Given the description of an element on the screen output the (x, y) to click on. 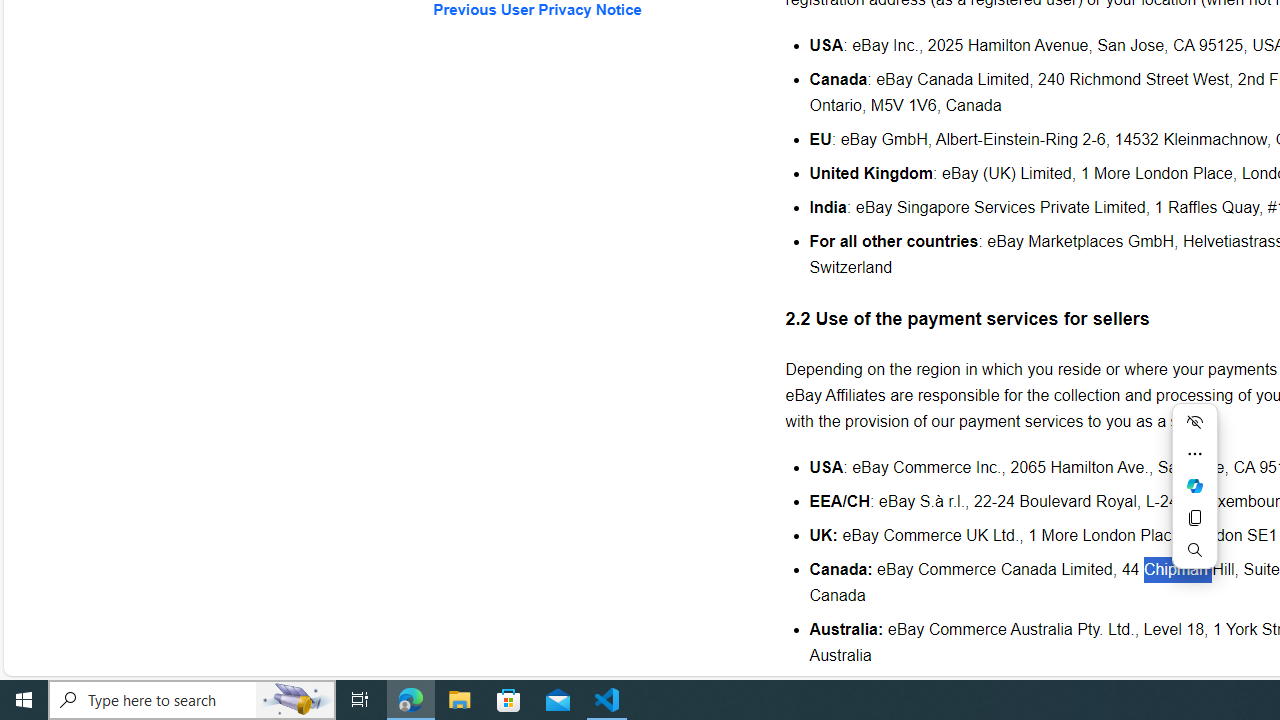
Ask Copilot (1194, 485)
Hide menu (1194, 421)
Mini menu on text selection (1194, 485)
Mini menu on text selection (1194, 498)
More actions (1194, 453)
Copy (1194, 517)
